Given the description of an element on the screen output the (x, y) to click on. 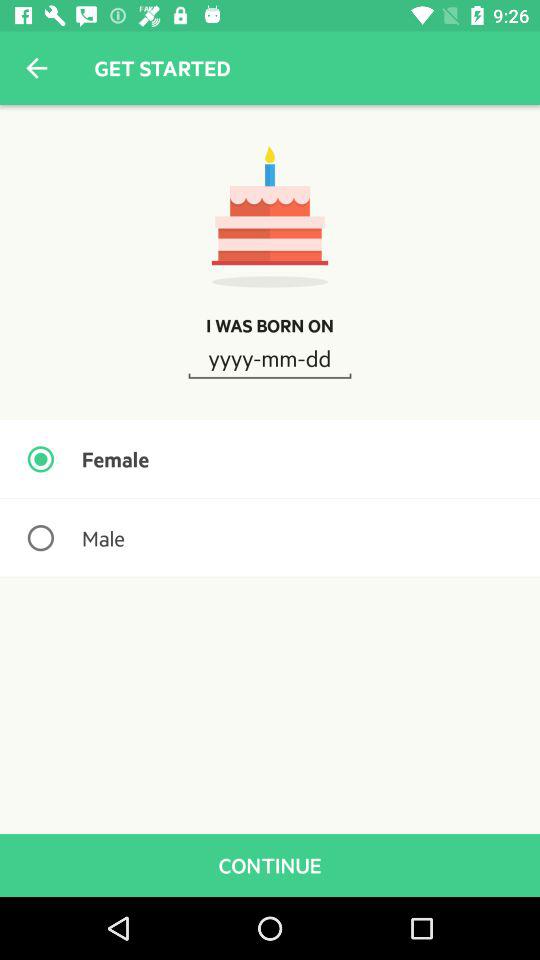
turn off the icon to the left of the get started icon (36, 68)
